Given the description of an element on the screen output the (x, y) to click on. 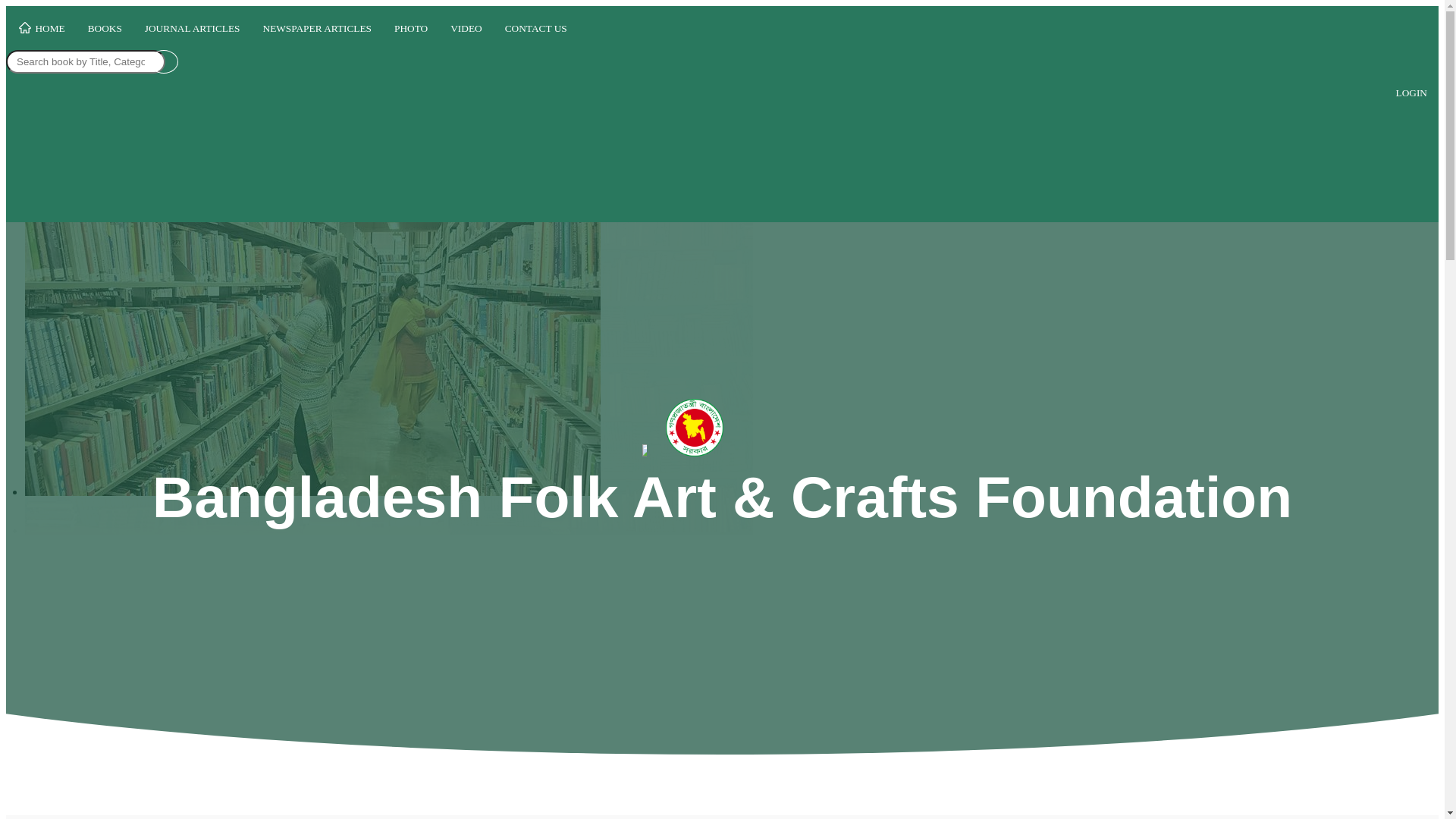
LOGIN Element type: text (1411, 92)
PHOTO Element type: text (410, 28)
NEWSPAPER ARTICLES Element type: text (317, 28)
img1 Element type: hover (311, 321)
img2 Element type: hover (388, 329)
JOURNAL ARTICLES Element type: text (192, 28)
VIDEO Element type: text (465, 28)
HOME Element type: text (41, 29)
CONTACT US Element type: text (536, 28)
BOOKS Element type: text (104, 28)
